Given the description of an element on the screen output the (x, y) to click on. 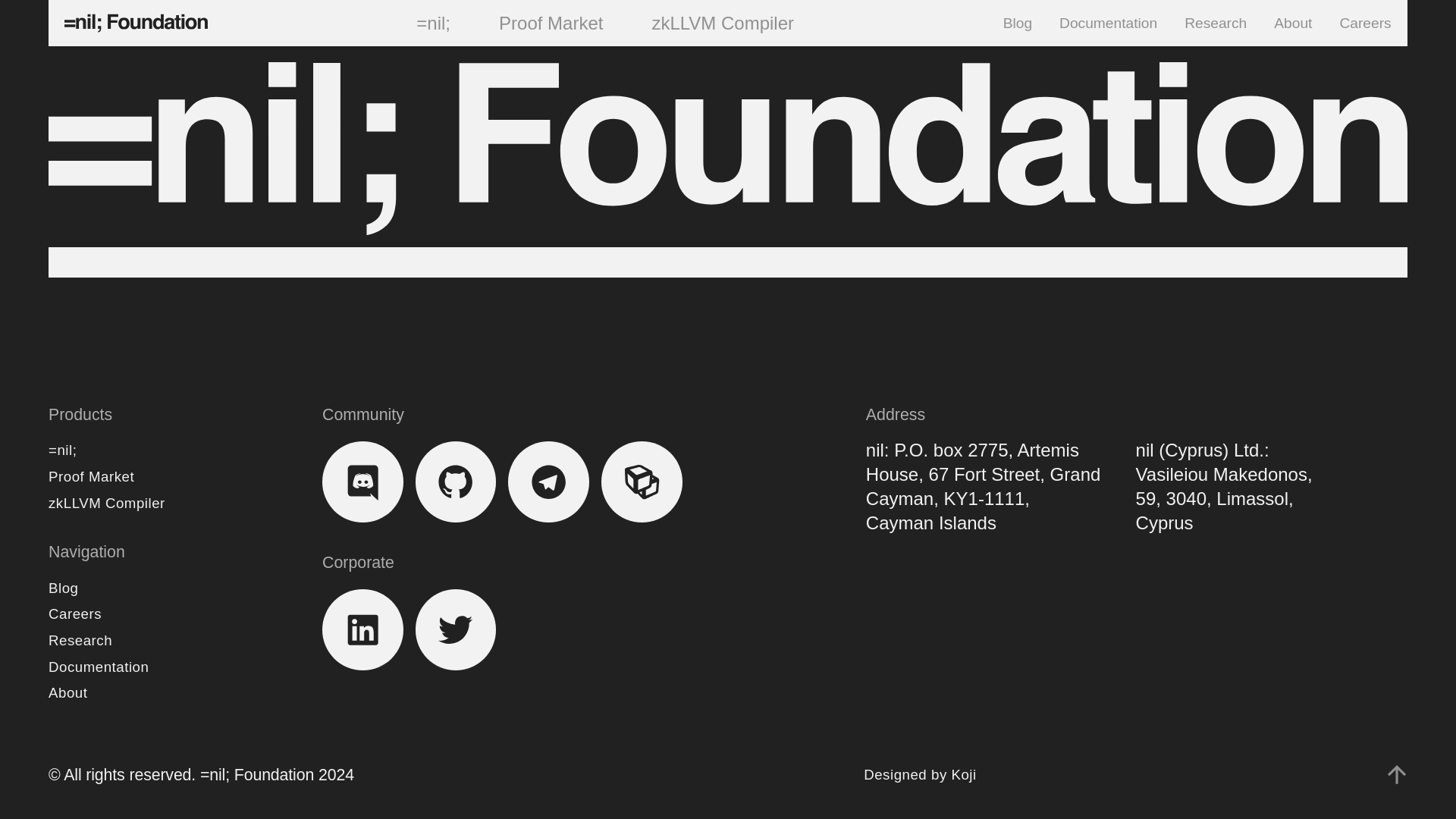
Designed by Koji (919, 774)
Blog (63, 587)
Proof Market (90, 476)
Documentation (98, 666)
Research (80, 640)
Careers (74, 613)
zkLLVM Compiler (106, 503)
About (67, 692)
